Given the description of an element on the screen output the (x, y) to click on. 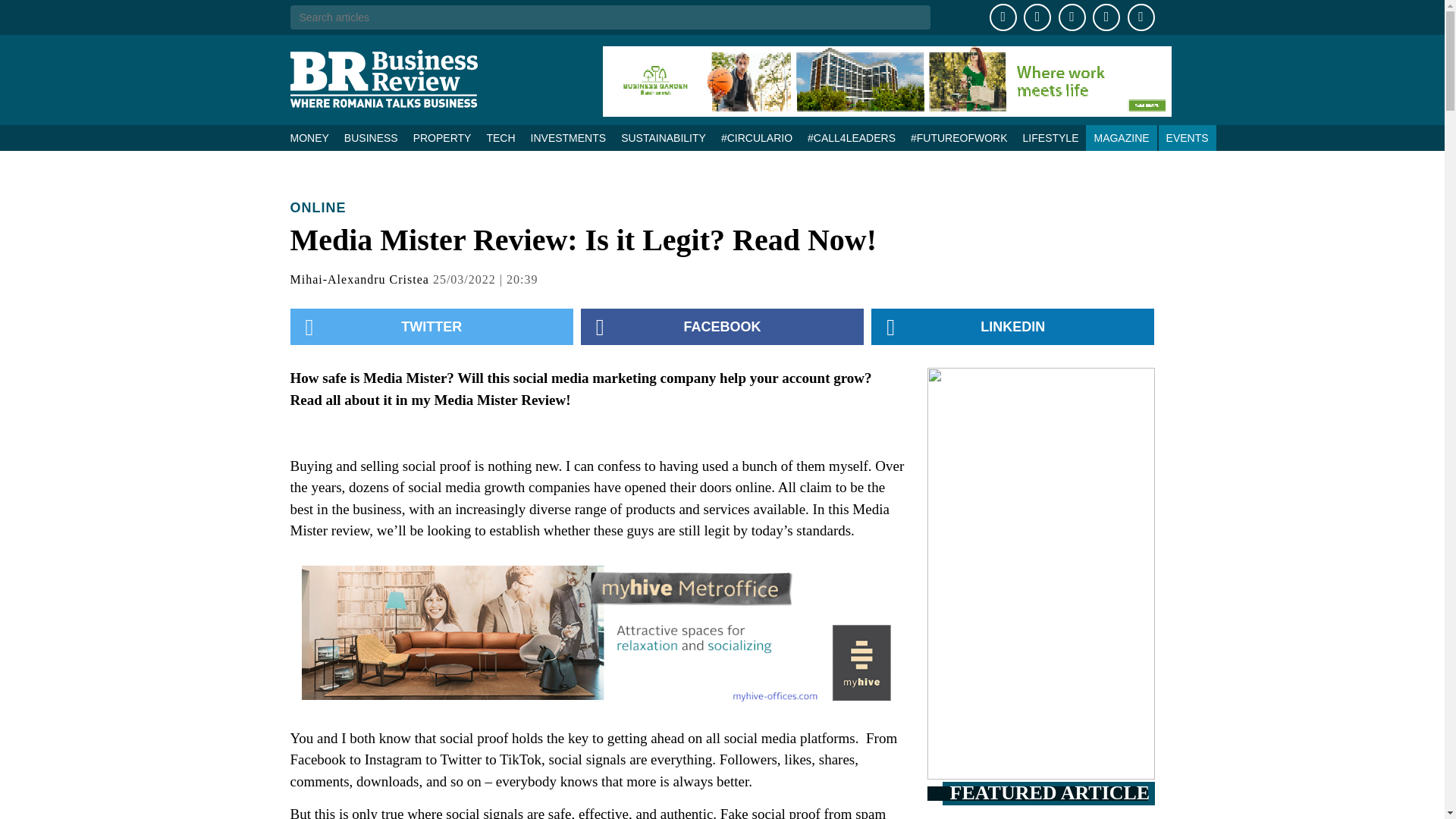
EVENTS (1186, 137)
LINKEDIN (1012, 326)
INVESTMENTS (568, 137)
SUSTAINABILITY (662, 137)
LIFESTYLE (1050, 137)
ONLINE (317, 207)
PROPERTY (442, 137)
FACEBOOK (721, 326)
Mihai-Alexandru Cristea (358, 278)
TECH (500, 137)
